Given the description of an element on the screen output the (x, y) to click on. 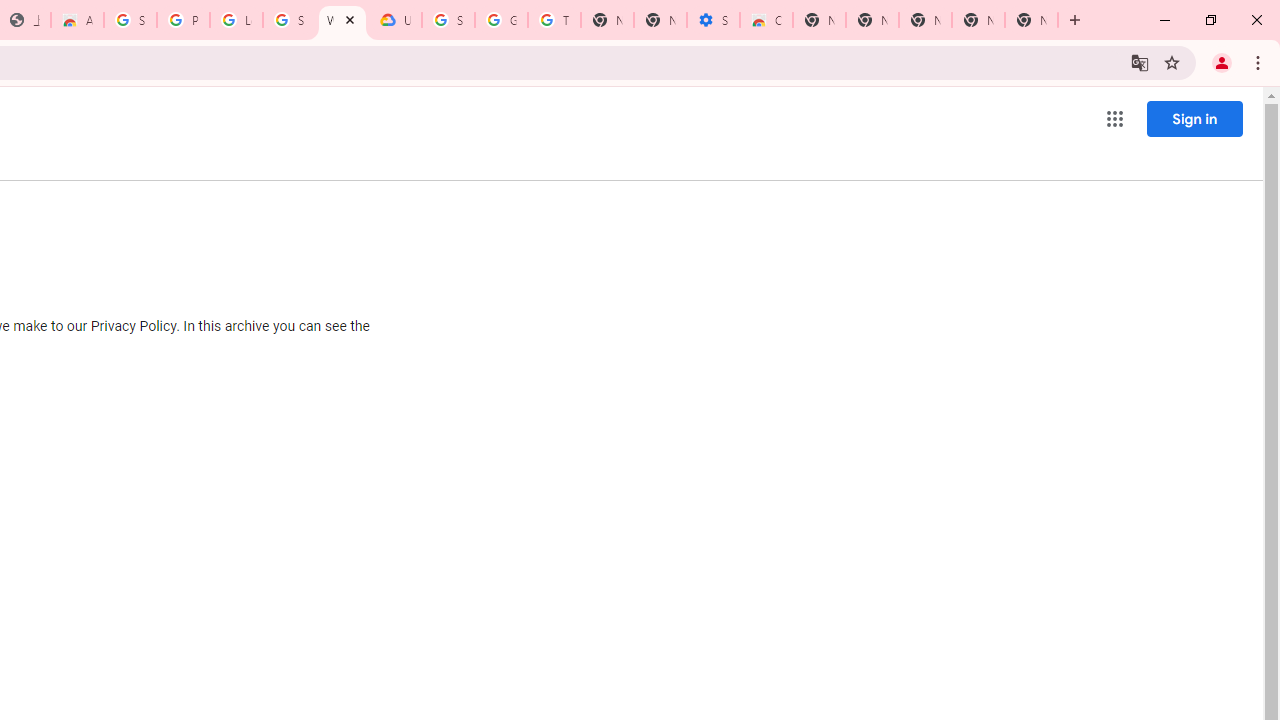
Awesome Screen Recorder & Screenshot - Chrome Web Store (77, 20)
Translate this page (1139, 62)
New Tab (925, 20)
Google Account Help (501, 20)
Restore (1210, 20)
Turn cookies on or off - Computer - Google Account Help (554, 20)
Minimize (1165, 20)
New Tab (819, 20)
Google Apps (1114, 118)
Chrome (1260, 62)
